Given the description of an element on the screen output the (x, y) to click on. 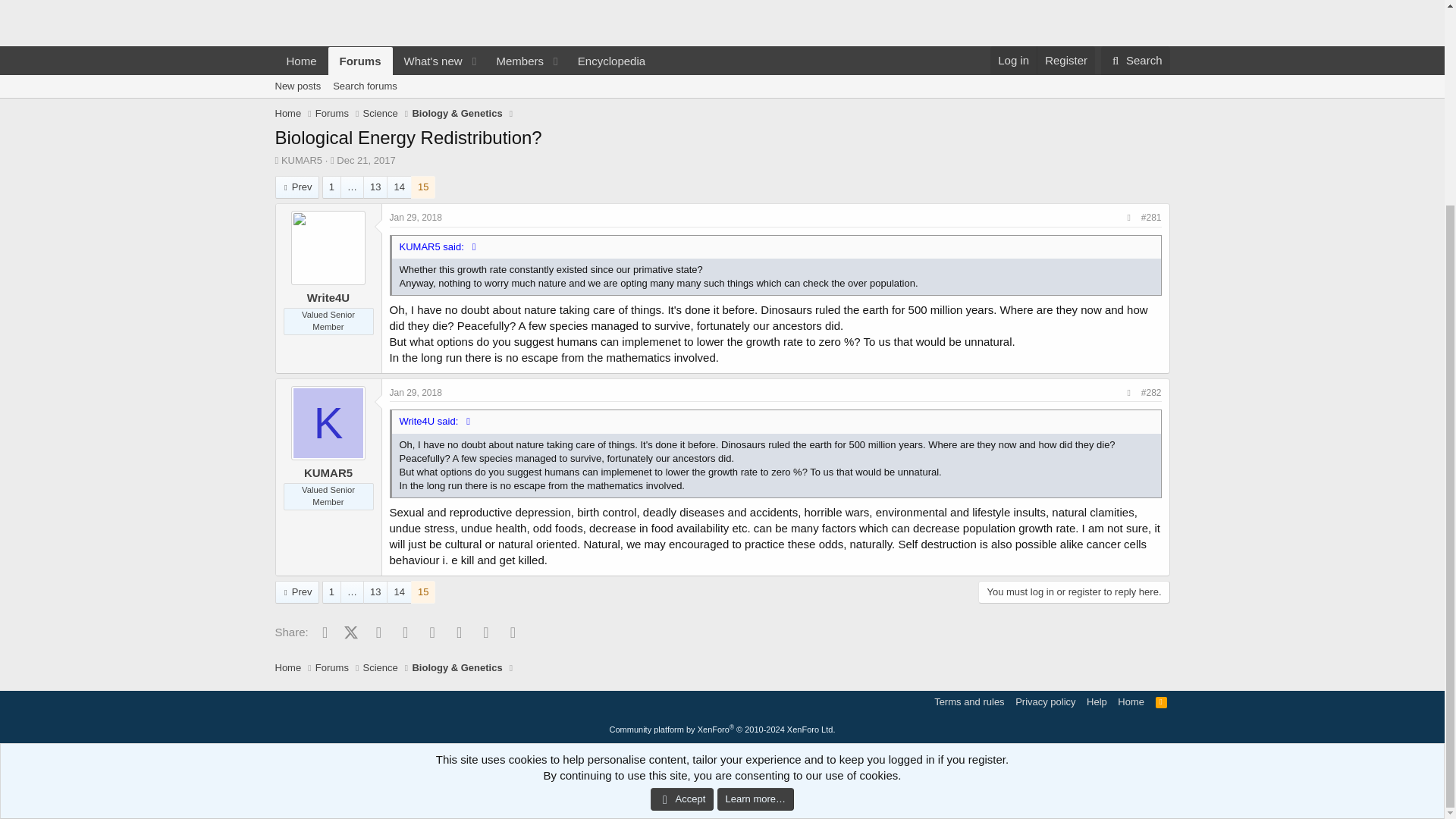
Encyclopedia (611, 60)
Science (379, 113)
Home (288, 113)
Forums (332, 113)
Dec 21, 2017 at 9:08 AM (365, 160)
Prev (720, 103)
RSS (296, 187)
What's new (1161, 701)
Members (428, 60)
